Given the description of an element on the screen output the (x, y) to click on. 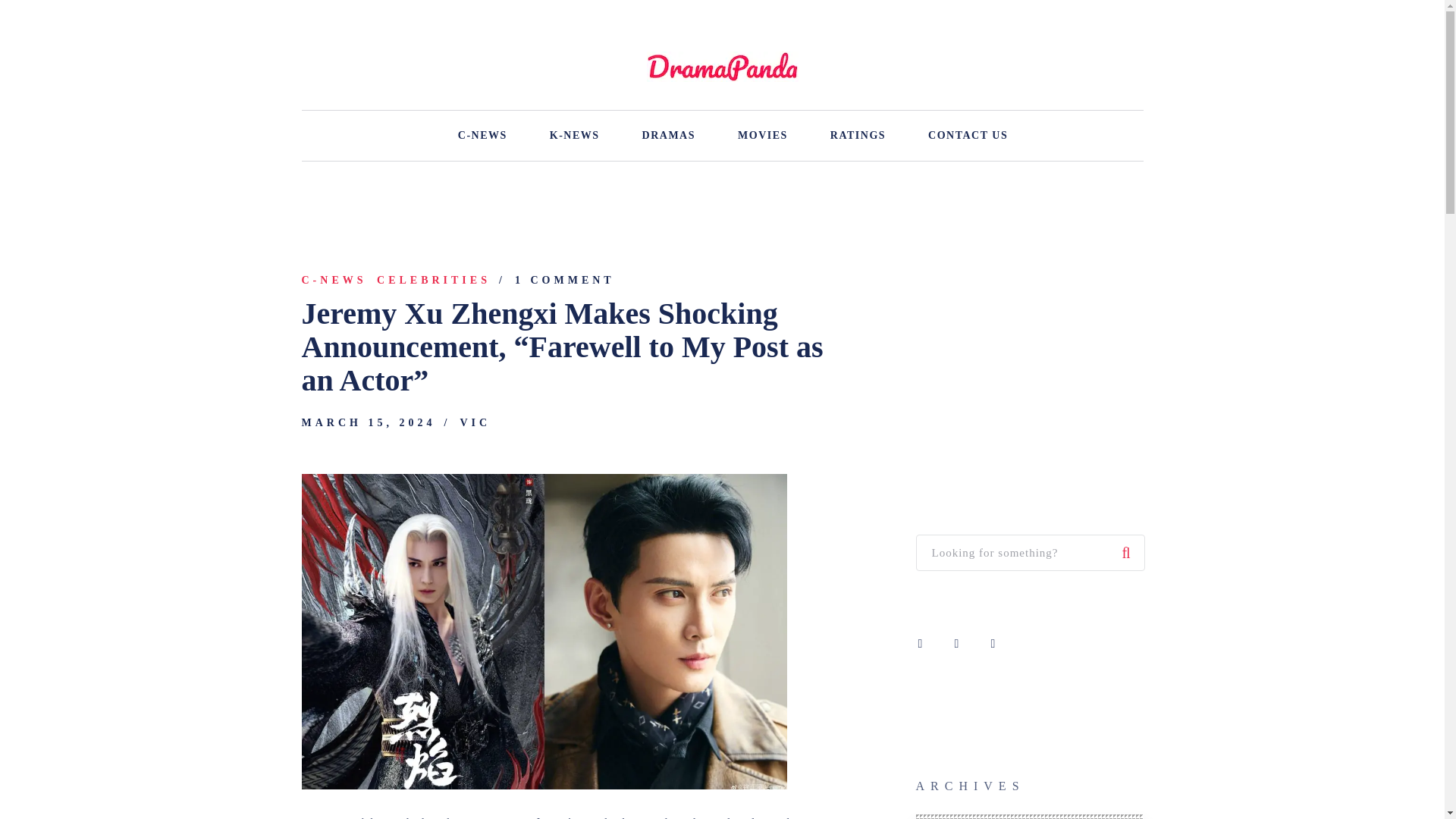
View all posts in Celebrities (433, 280)
Posts by Vic (475, 422)
Instagram (956, 643)
CELEBRITIES (433, 280)
View all posts in C-News (333, 280)
C-NEWS (333, 280)
MOVIES (762, 135)
CONTACT US (967, 135)
Facebook (920, 643)
VIC (475, 422)
